Given the description of an element on the screen output the (x, y) to click on. 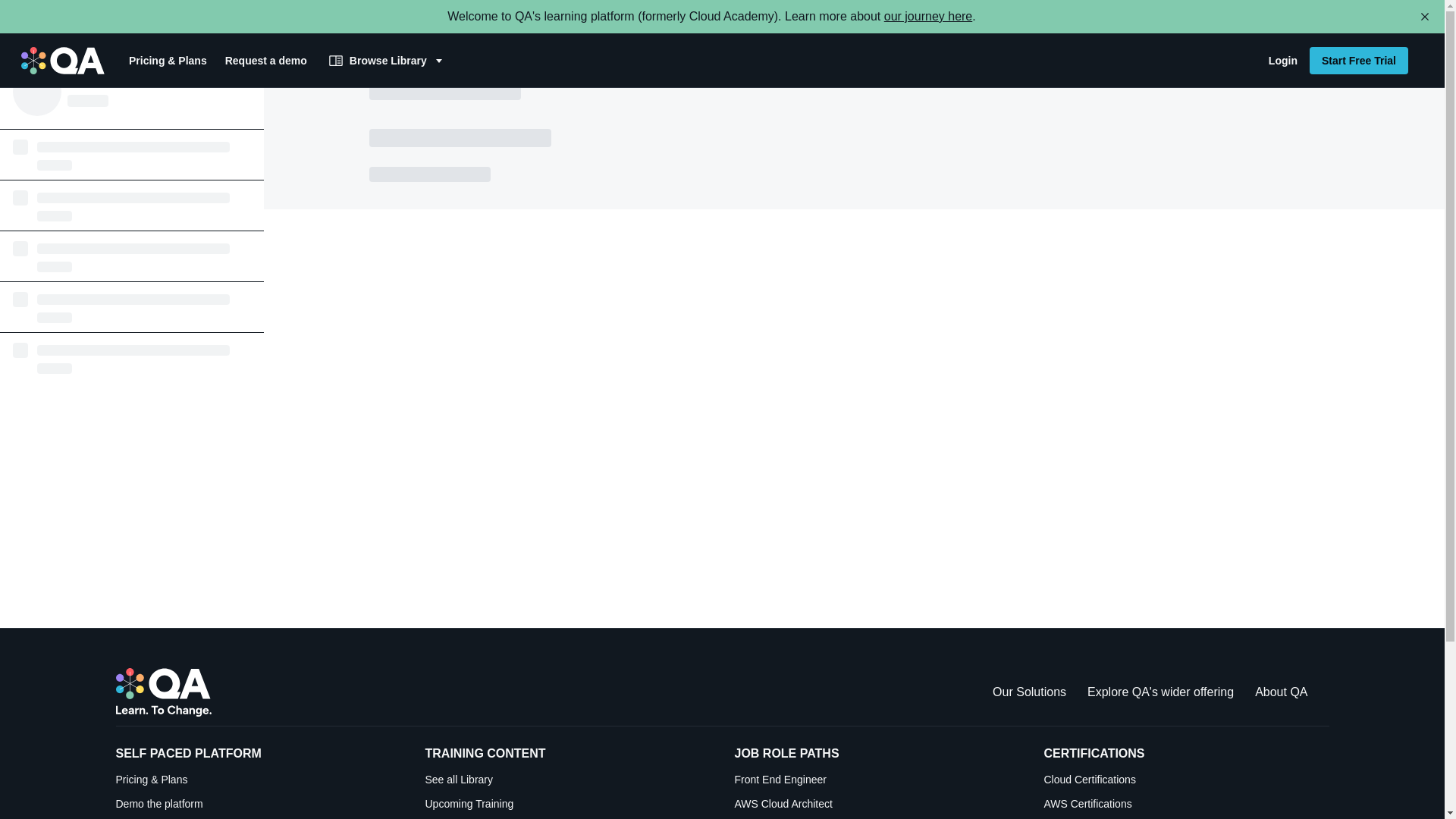
Browse Library (386, 60)
Explore QA's wider offering (1160, 692)
AWS Cloud Architect (876, 803)
Upcoming Training (567, 803)
Our Solutions (1028, 692)
Cloud Certifications (1185, 779)
Demo the platform (257, 803)
Front End Engineer (876, 779)
See all Library (567, 779)
Start Free Trial (1357, 60)
